Given the description of an element on the screen output the (x, y) to click on. 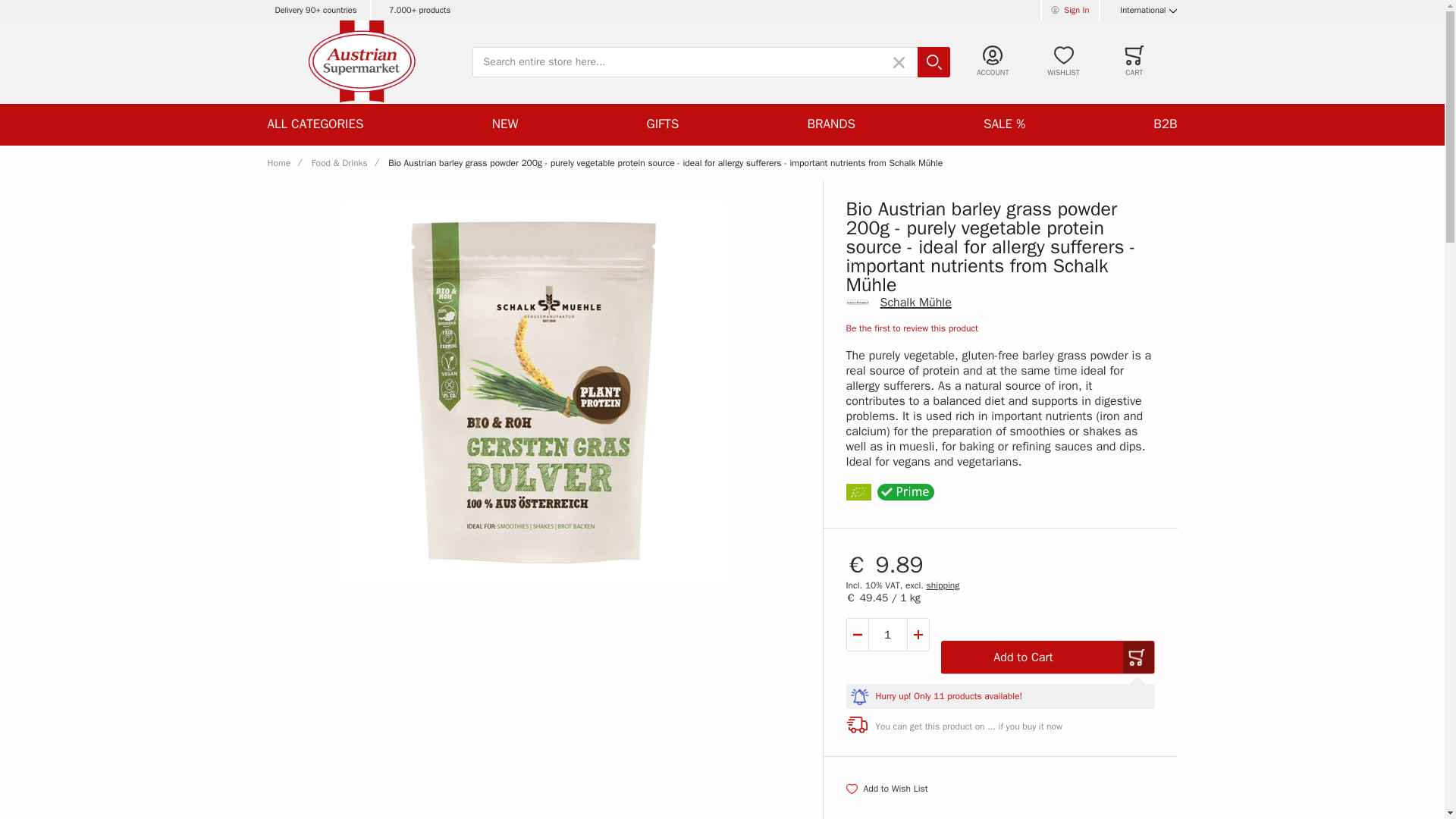
ACCOUNT (992, 61)
Add to Wish List (886, 788)
Sign In (1069, 10)
Austrian Supermarket Logo (361, 62)
1 (888, 634)
BRANDS (831, 124)
NEW (505, 124)
CART (1134, 61)
GIFTS (663, 124)
Search (936, 61)
